Given the description of an element on the screen output the (x, y) to click on. 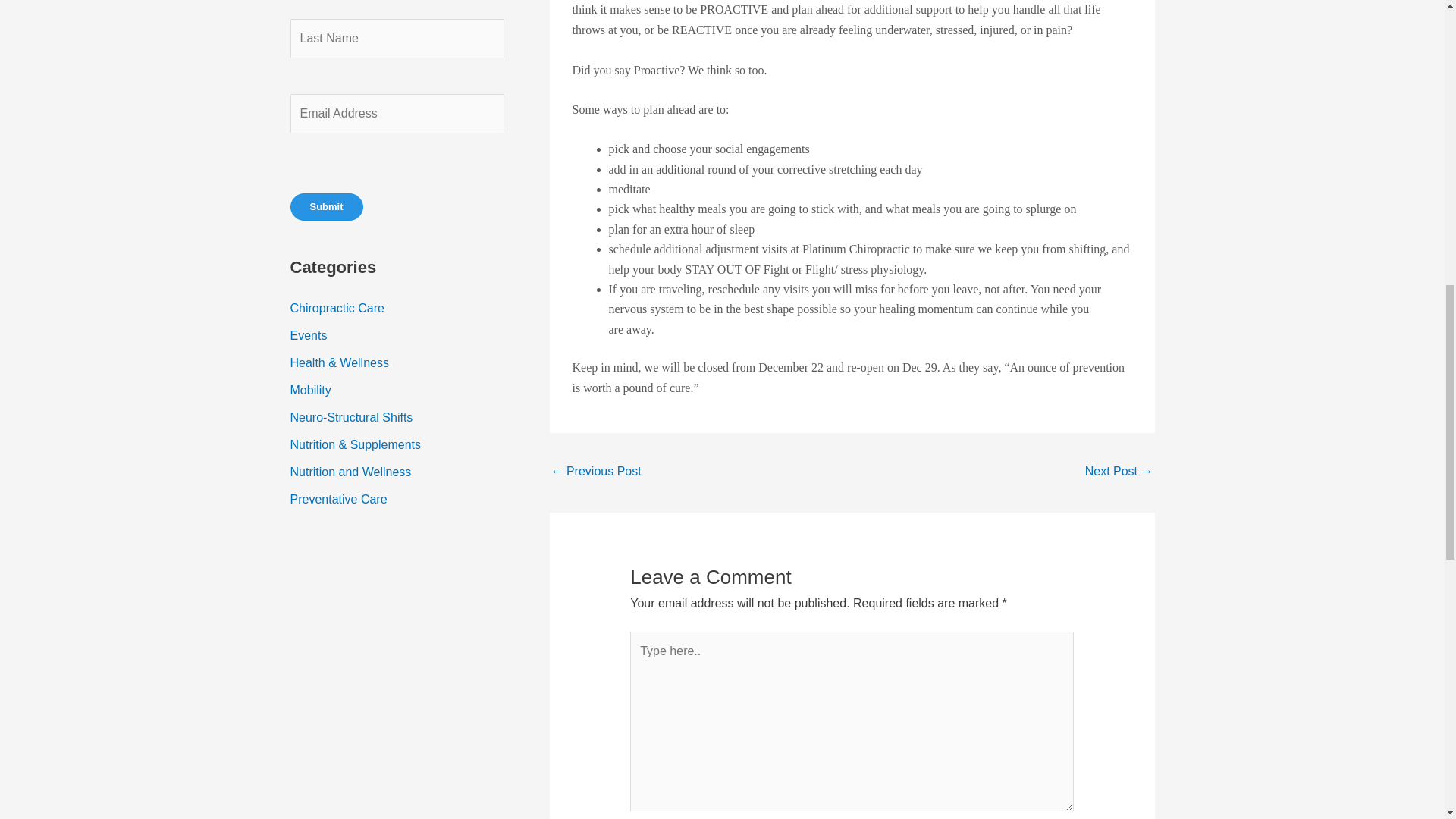
Mobility (309, 390)
New Years Nutrition (1118, 472)
Submit (325, 206)
Events (307, 335)
Submit (325, 206)
Neuro-Structural Shifts (350, 417)
Mental Health Exercise (595, 472)
Chiropractic Care (336, 308)
